Given the description of an element on the screen output the (x, y) to click on. 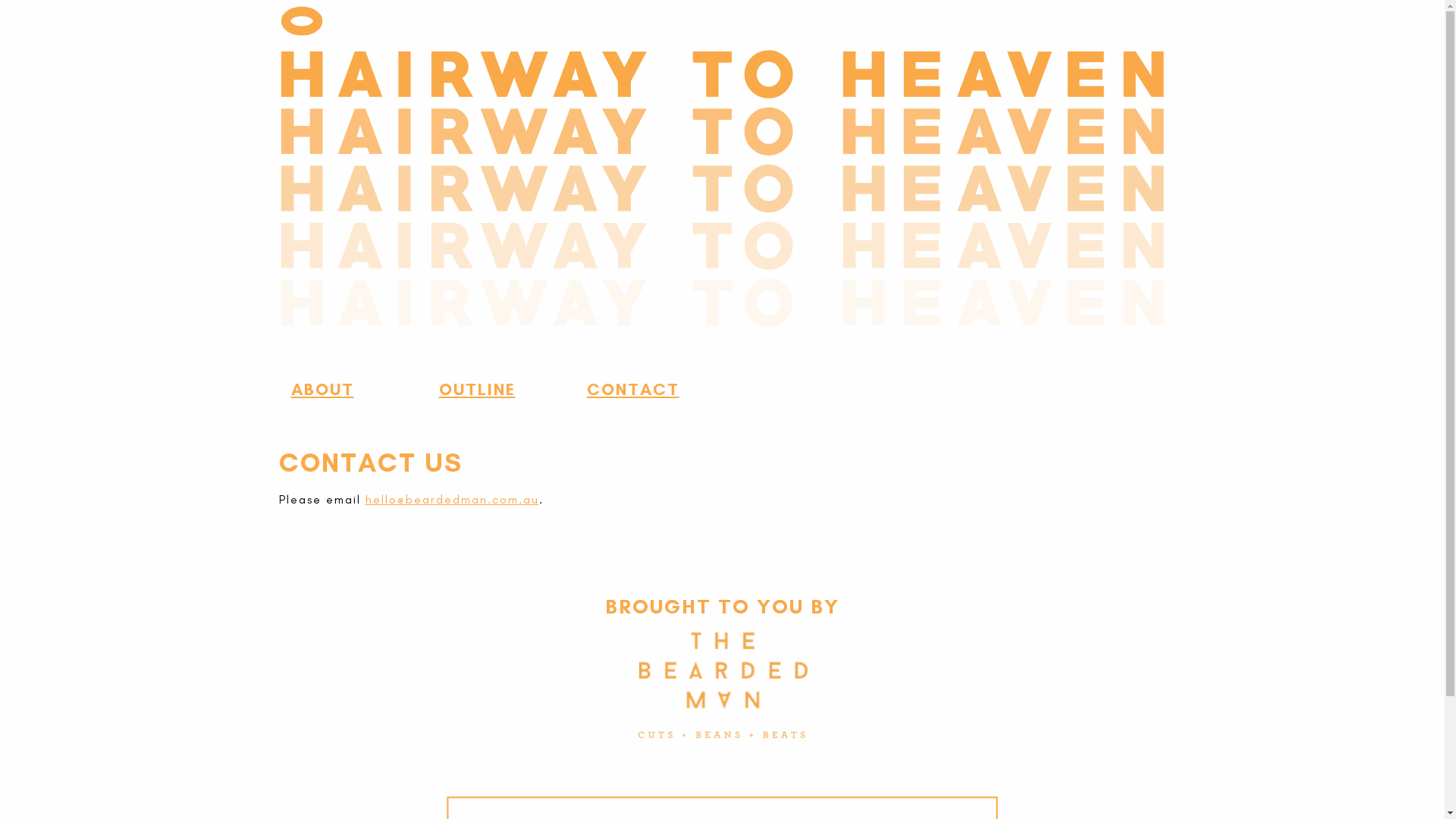
hello@beardedman.com.au Element type: text (452, 499)
CONTACT Element type: text (648, 390)
OUTLINE Element type: text (500, 390)
ABOUT Element type: text (352, 390)
